Given the description of an element on the screen output the (x, y) to click on. 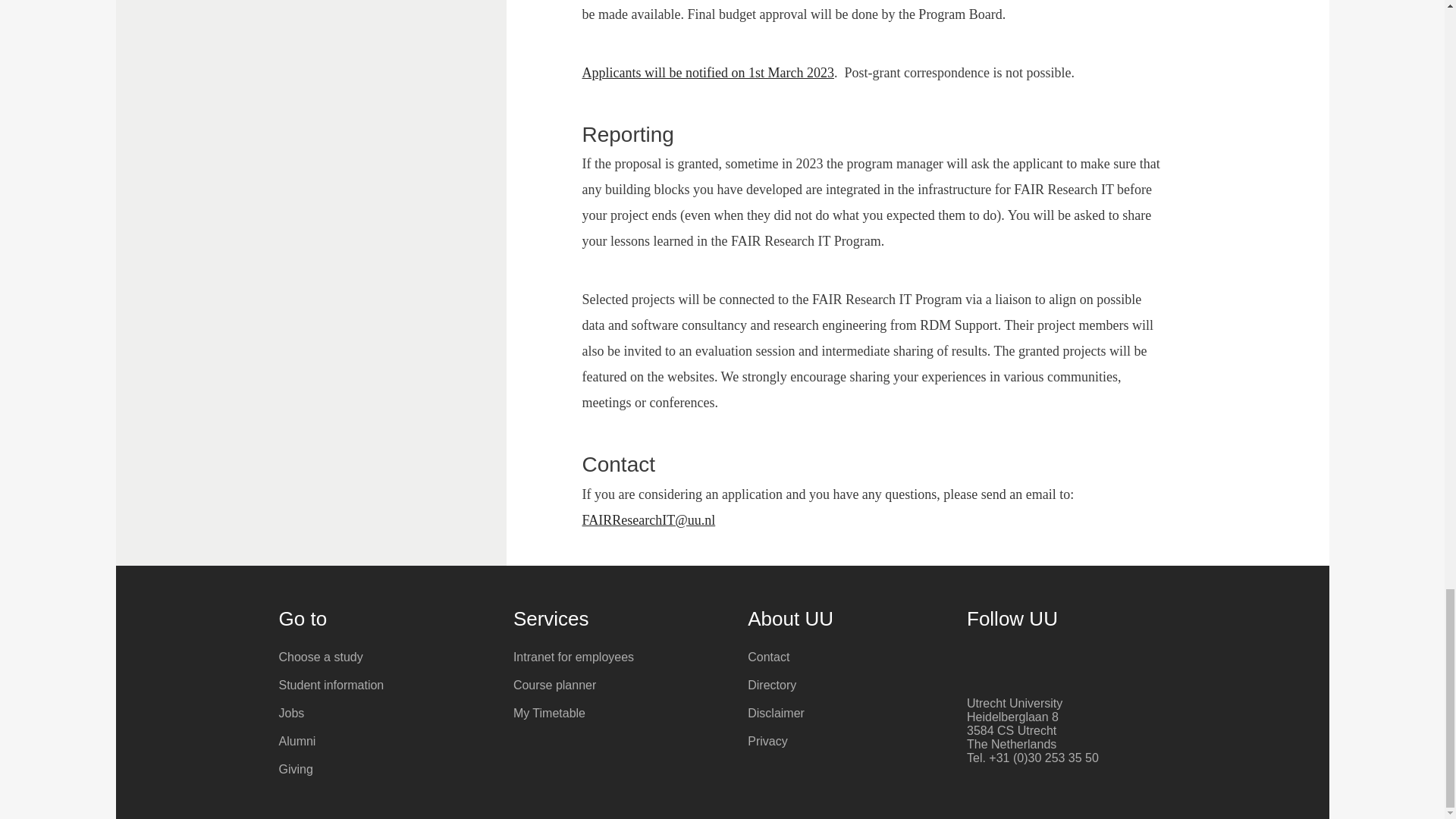
Applicants will be notified on 1st March 2023 (708, 72)
